Given the description of an element on the screen output the (x, y) to click on. 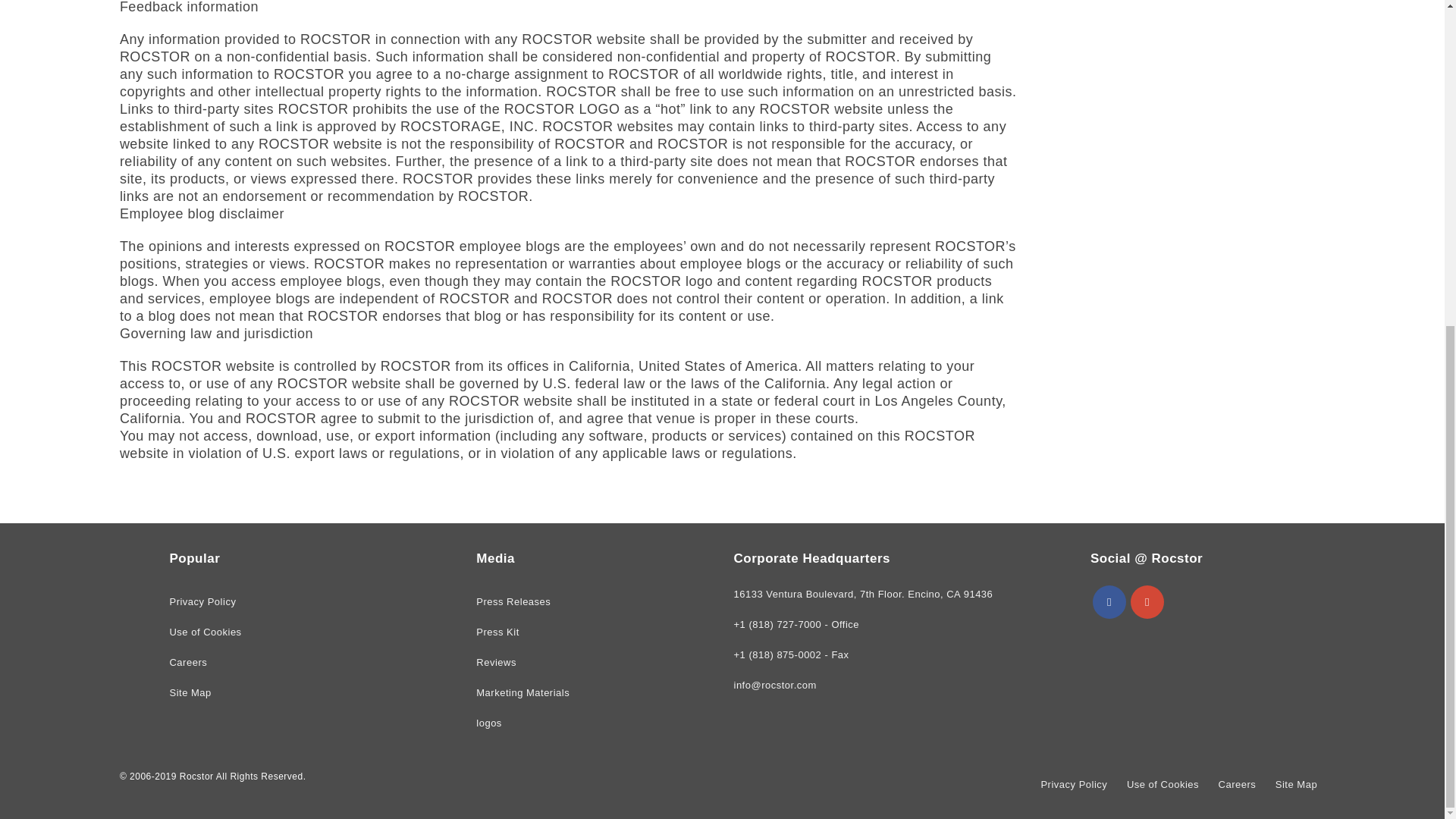
Privacy Policy Use of Cookies Careers Site Map (1028, 784)
